Given the description of an element on the screen output the (x, y) to click on. 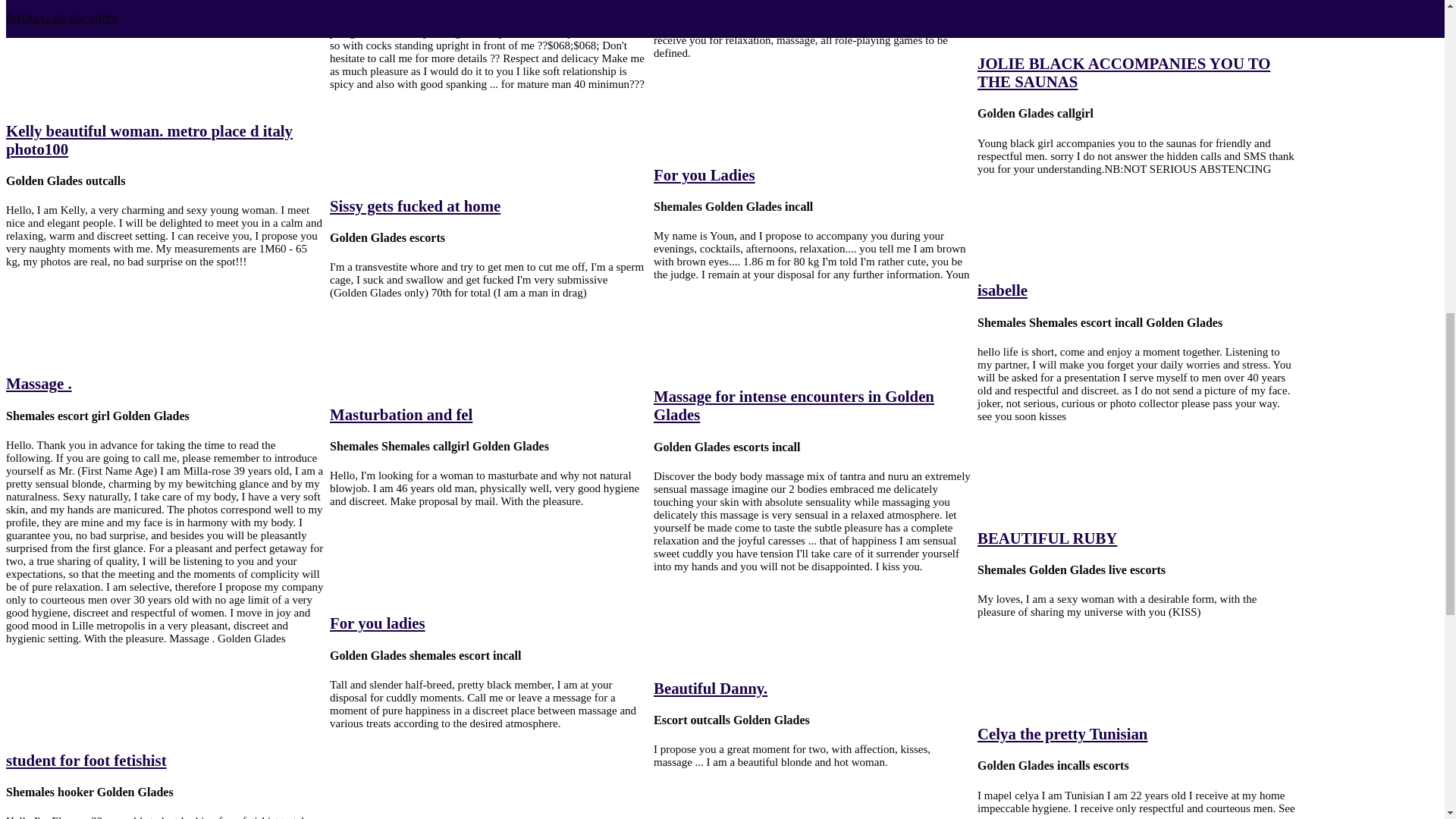
Kelly beautiful woman. metro place d italy photo100 (148, 140)
student for foot fetishist (86, 760)
Massage . (38, 383)
Massage for intense encounters in Golden Glades (793, 405)
Masturbation and fel (400, 414)
Beautiful Danny. (710, 687)
Sissy gets fucked at home (415, 205)
For you ladies (377, 622)
For you Ladies (704, 174)
